Given the description of an element on the screen output the (x, y) to click on. 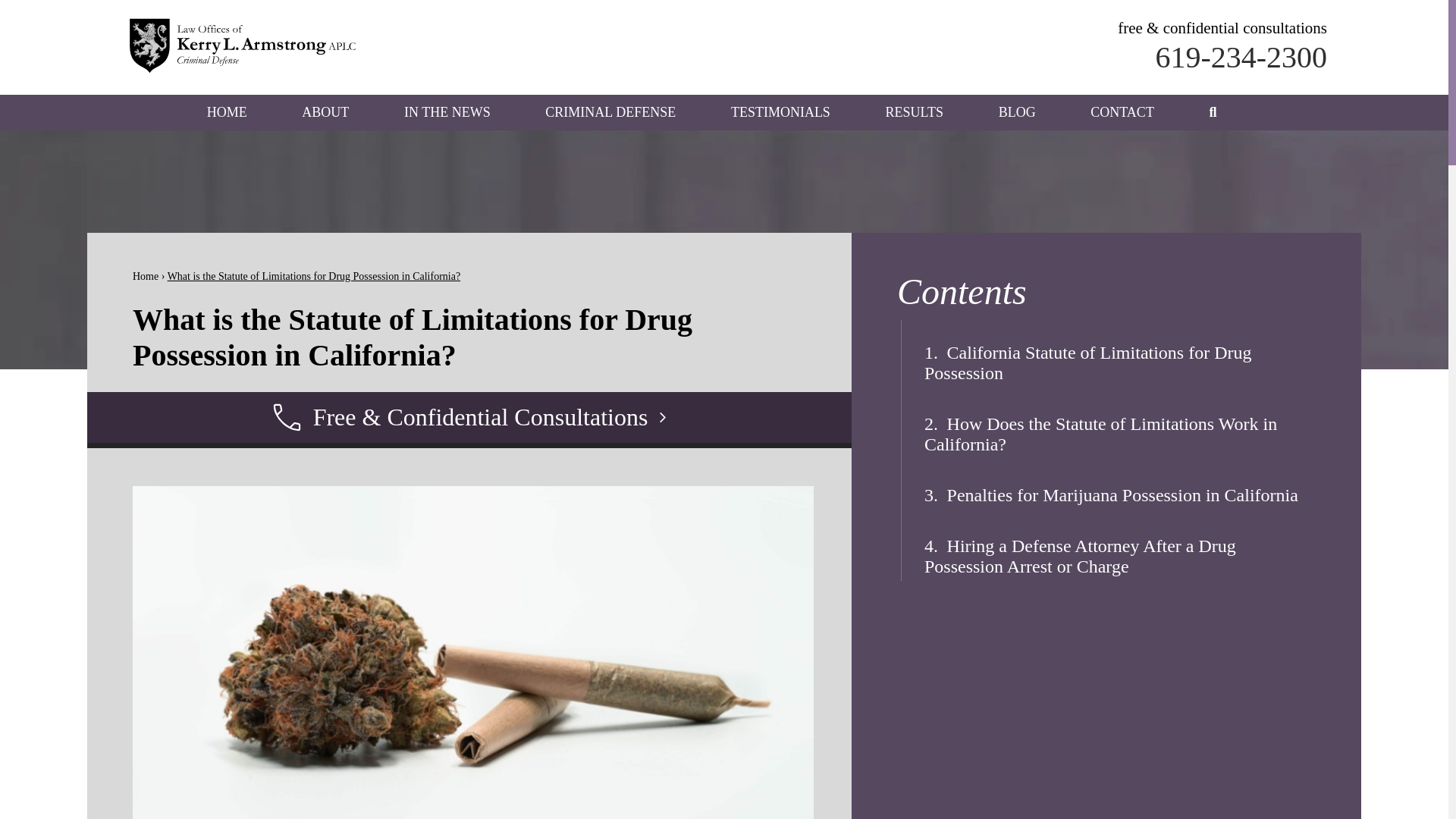
CONTACT (1122, 112)
Home (145, 276)
CRIMINAL DEFENSE (609, 112)
IN THE NEWS (447, 112)
ABOUT (325, 112)
RESULTS (914, 112)
TESTIMONIALS (779, 112)
HOME (226, 112)
BLOG (1016, 112)
